Given the description of an element on the screen output the (x, y) to click on. 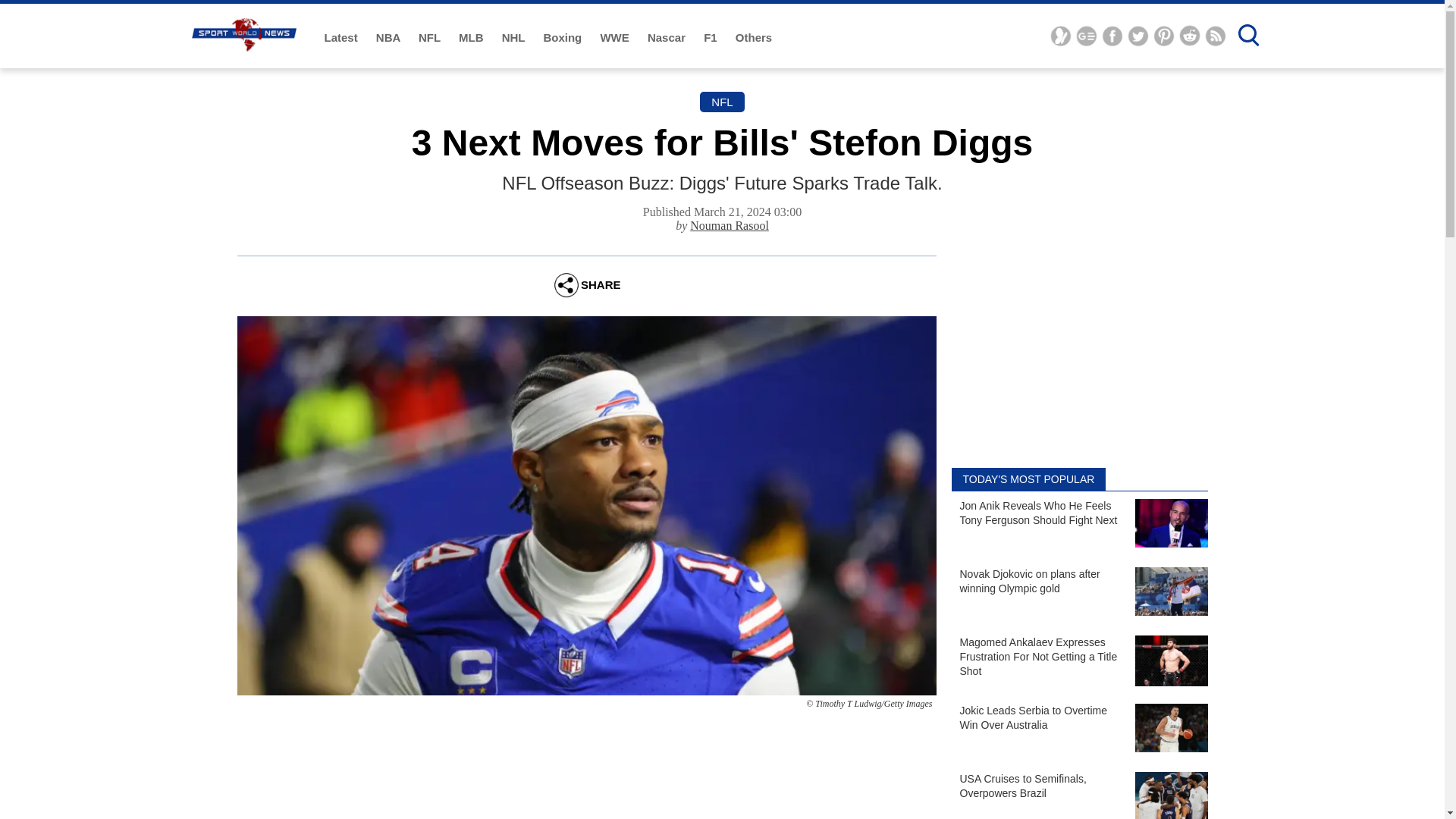
Others (753, 37)
MLB (472, 37)
Boxing (564, 37)
NFL (431, 37)
WWE (615, 37)
NBA (389, 37)
Latest (342, 37)
NHL (515, 37)
F1 (711, 37)
Nascar (667, 37)
